Given the description of an element on the screen output the (x, y) to click on. 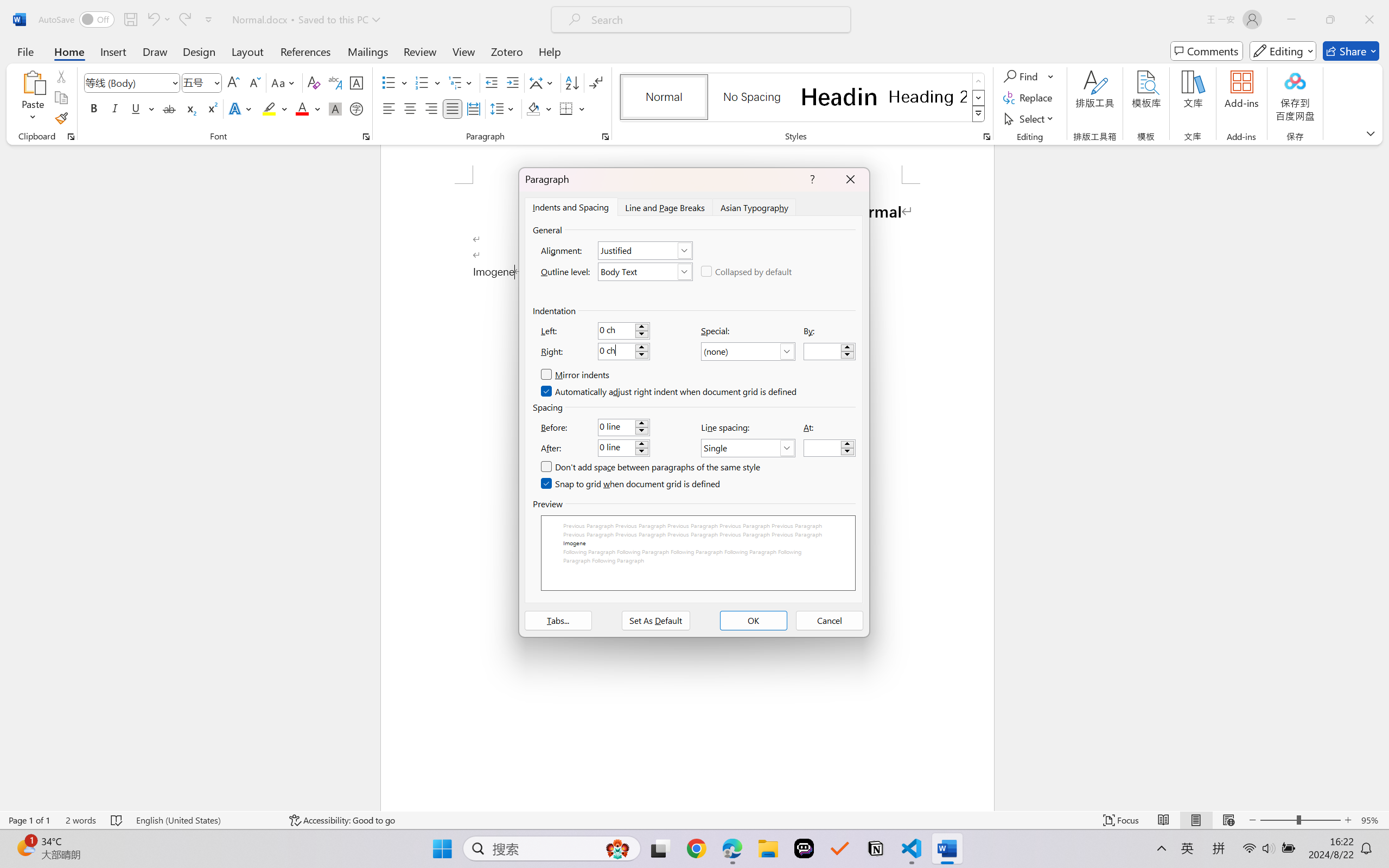
Justify (452, 108)
RichEdit Control (822, 447)
Text Highlight Color (274, 108)
Help (549, 51)
OK (753, 620)
Google Chrome (696, 848)
Shrink Font (253, 82)
Copy (60, 97)
